Given the description of an element on the screen output the (x, y) to click on. 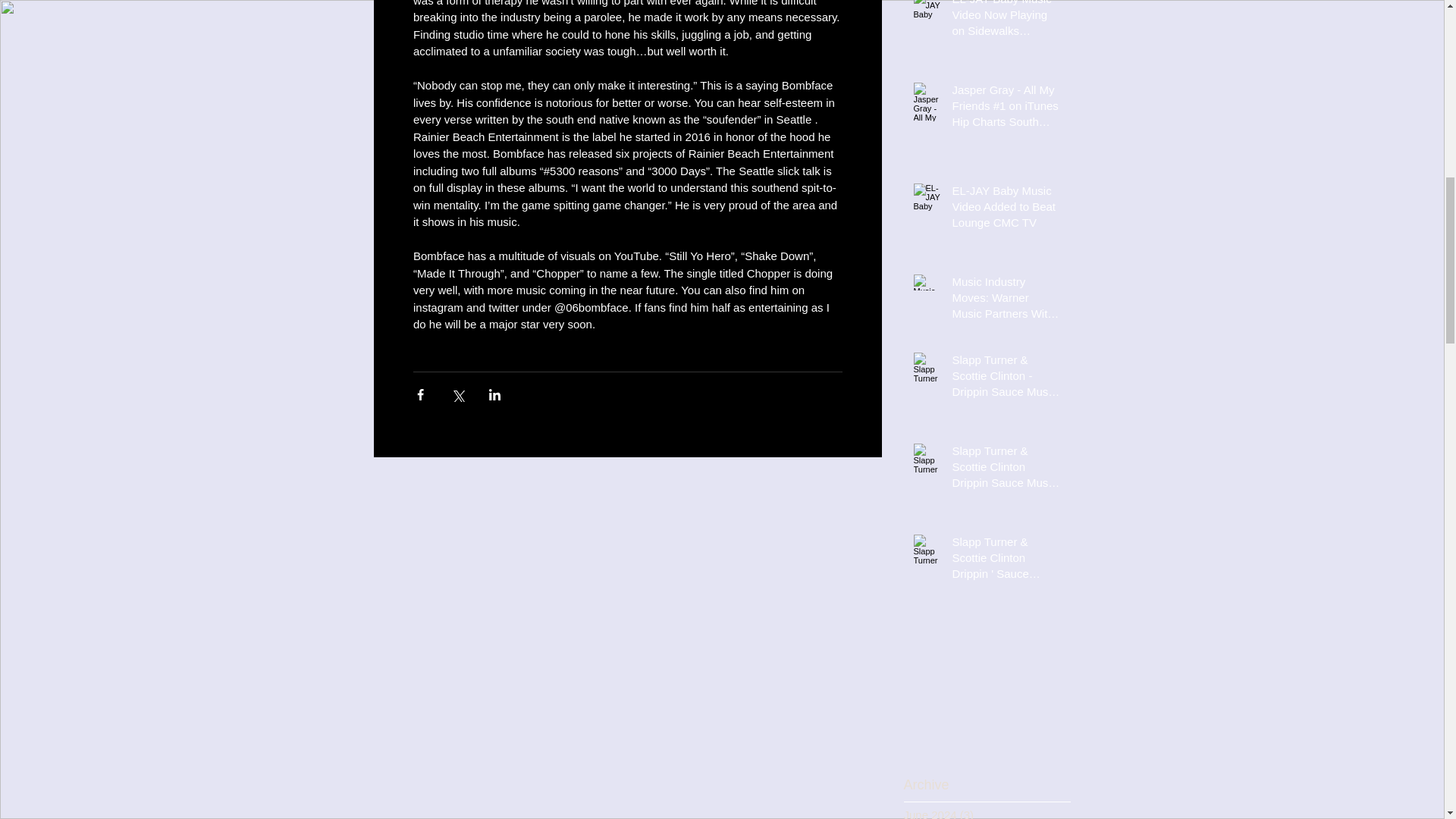
EL-JAY Baby Music Video Added to Beat Lounge CMC TV (1006, 209)
